Given the description of an element on the screen output the (x, y) to click on. 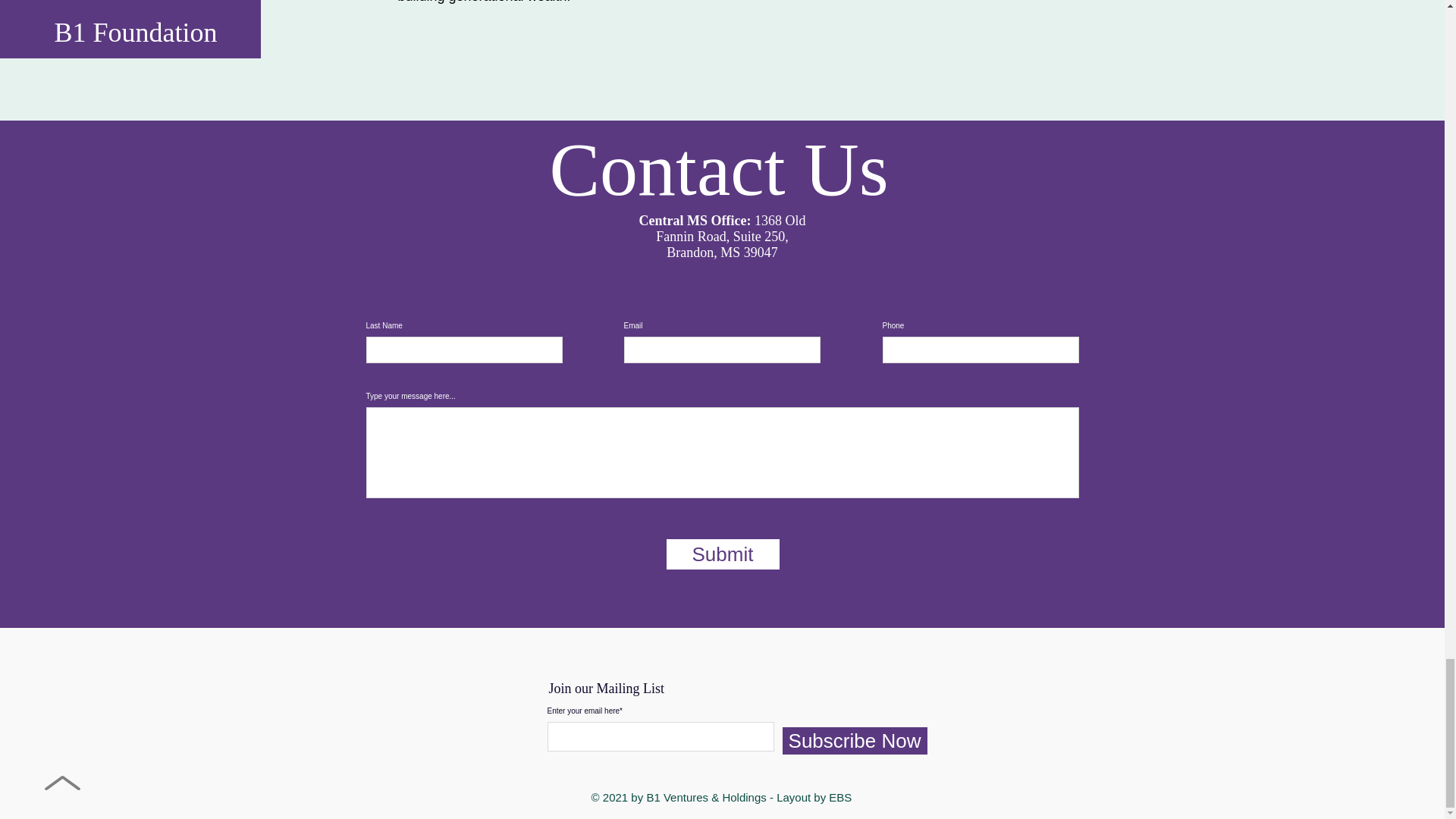
Subscribe Now (855, 740)
Submit (721, 553)
